Given the description of an element on the screen output the (x, y) to click on. 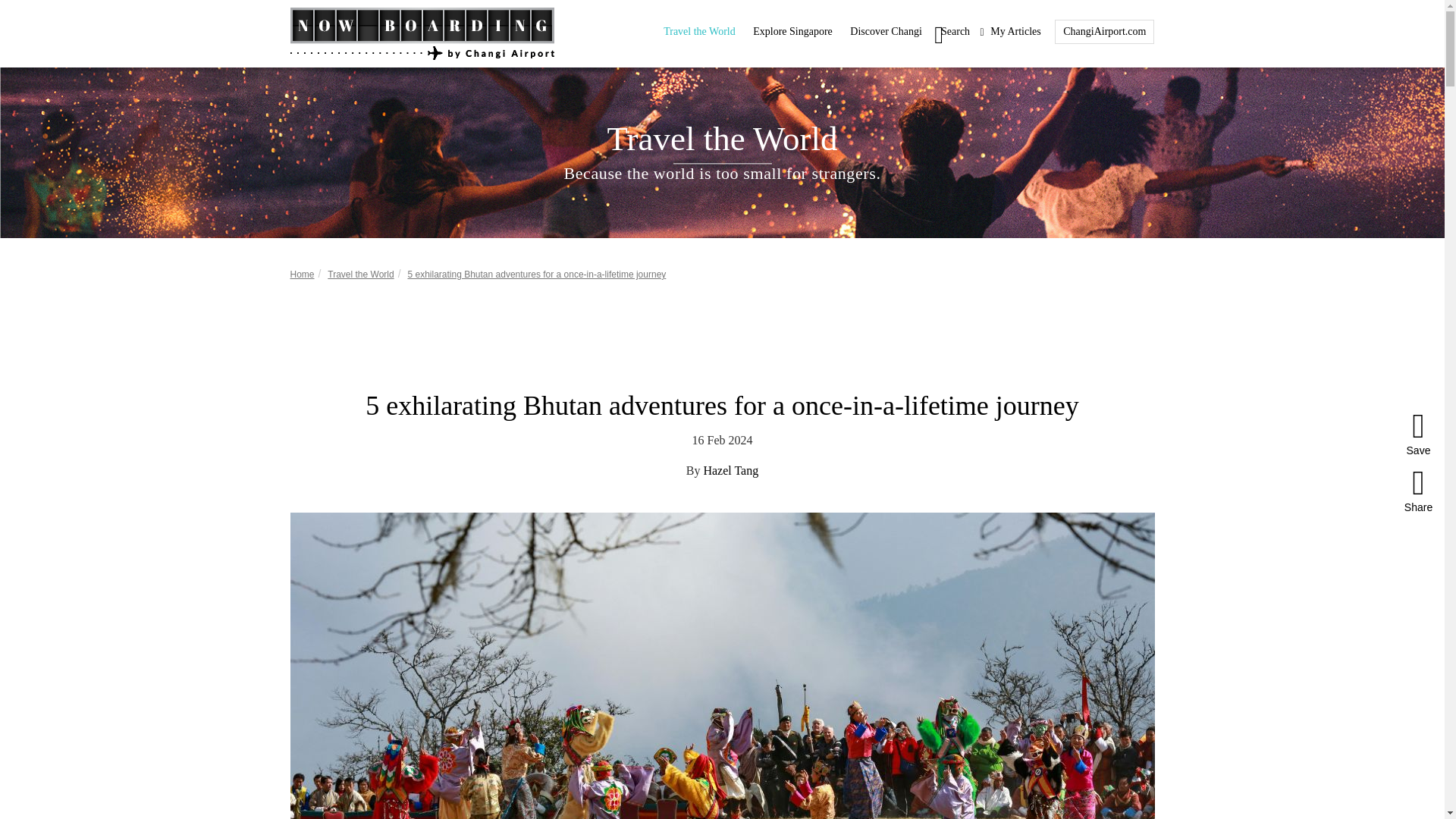
Travel the World (360, 274)
Discover Changi (885, 30)
Home (301, 274)
Explore Singapore (792, 30)
My Articles (1010, 31)
Hazel Tang (730, 470)
Search (950, 30)
ChangiAirport.com (1103, 30)
Advertisement (721, 337)
